Given the description of an element on the screen output the (x, y) to click on. 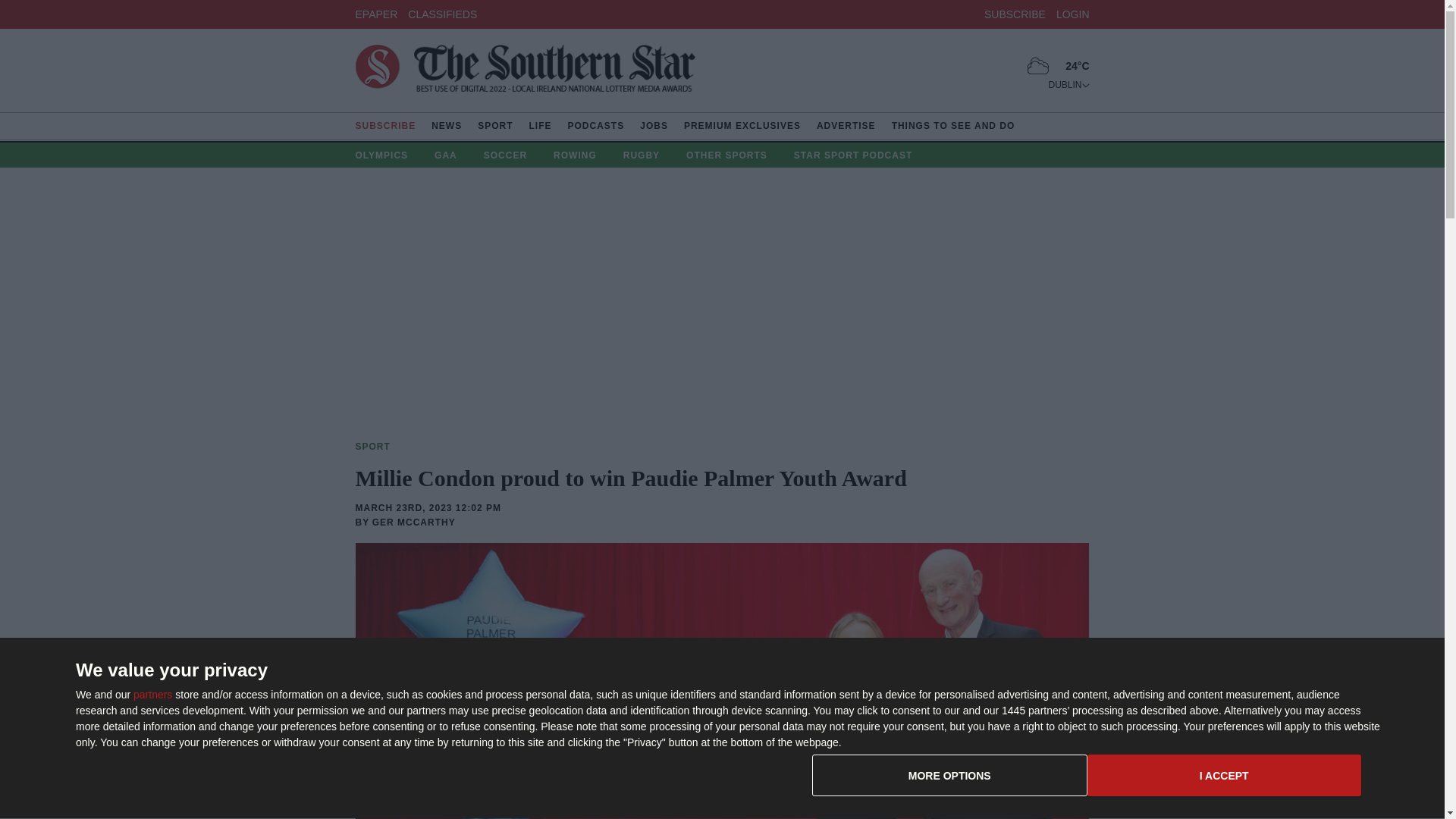
DUBLIN (1068, 84)
SUBSCRIBE (1014, 13)
partners (152, 694)
LOGIN (1073, 13)
Southern Star Ltd. logo (524, 70)
I ACCEPT (1224, 775)
MORE OPTIONS (1086, 781)
Millie Condon proud to win Paudie Palmer Youth Award Image (949, 775)
EPAPER (442, 13)
